Given the description of an element on the screen output the (x, y) to click on. 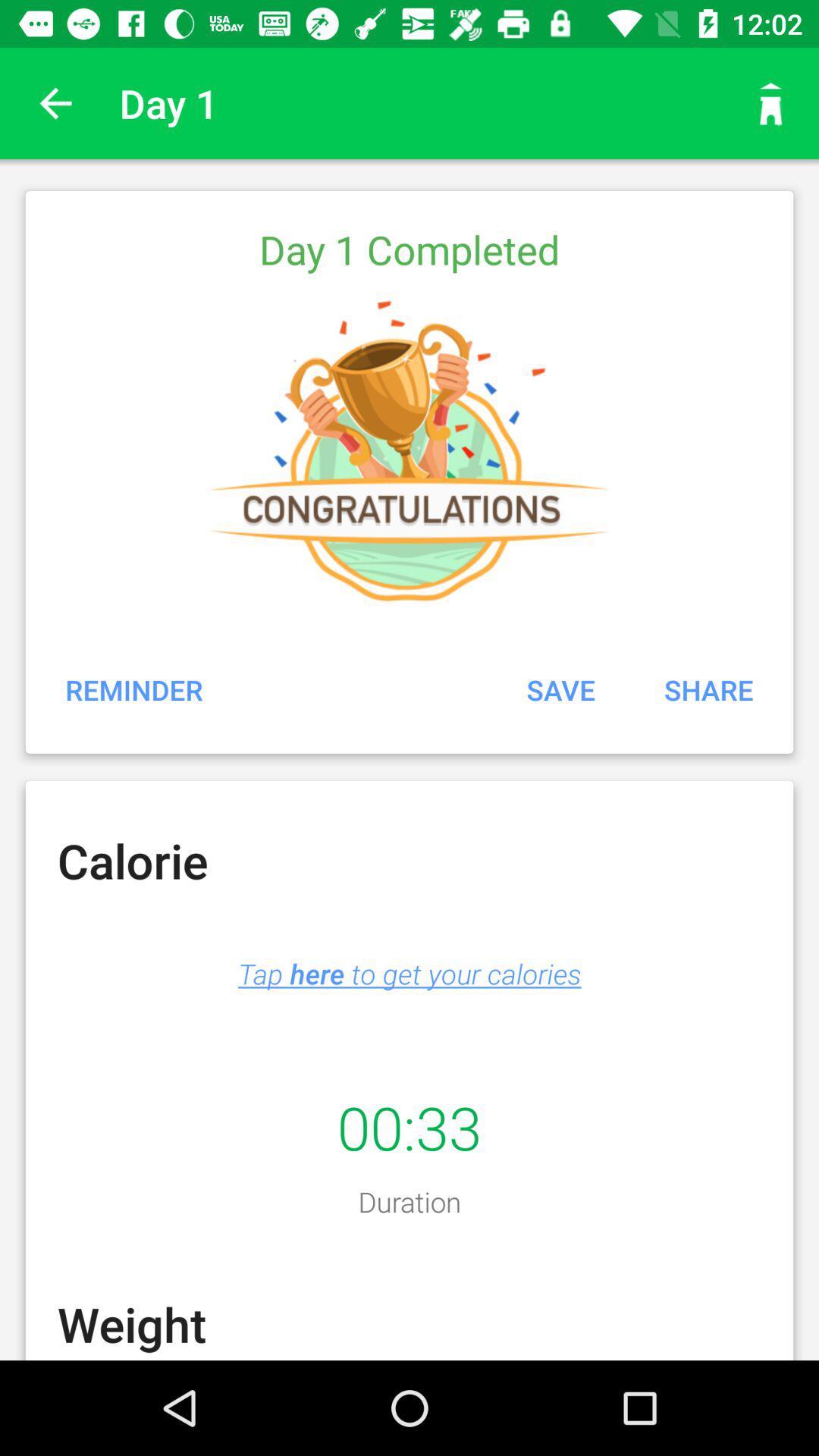
press the icon next to save (133, 689)
